Given the description of an element on the screen output the (x, y) to click on. 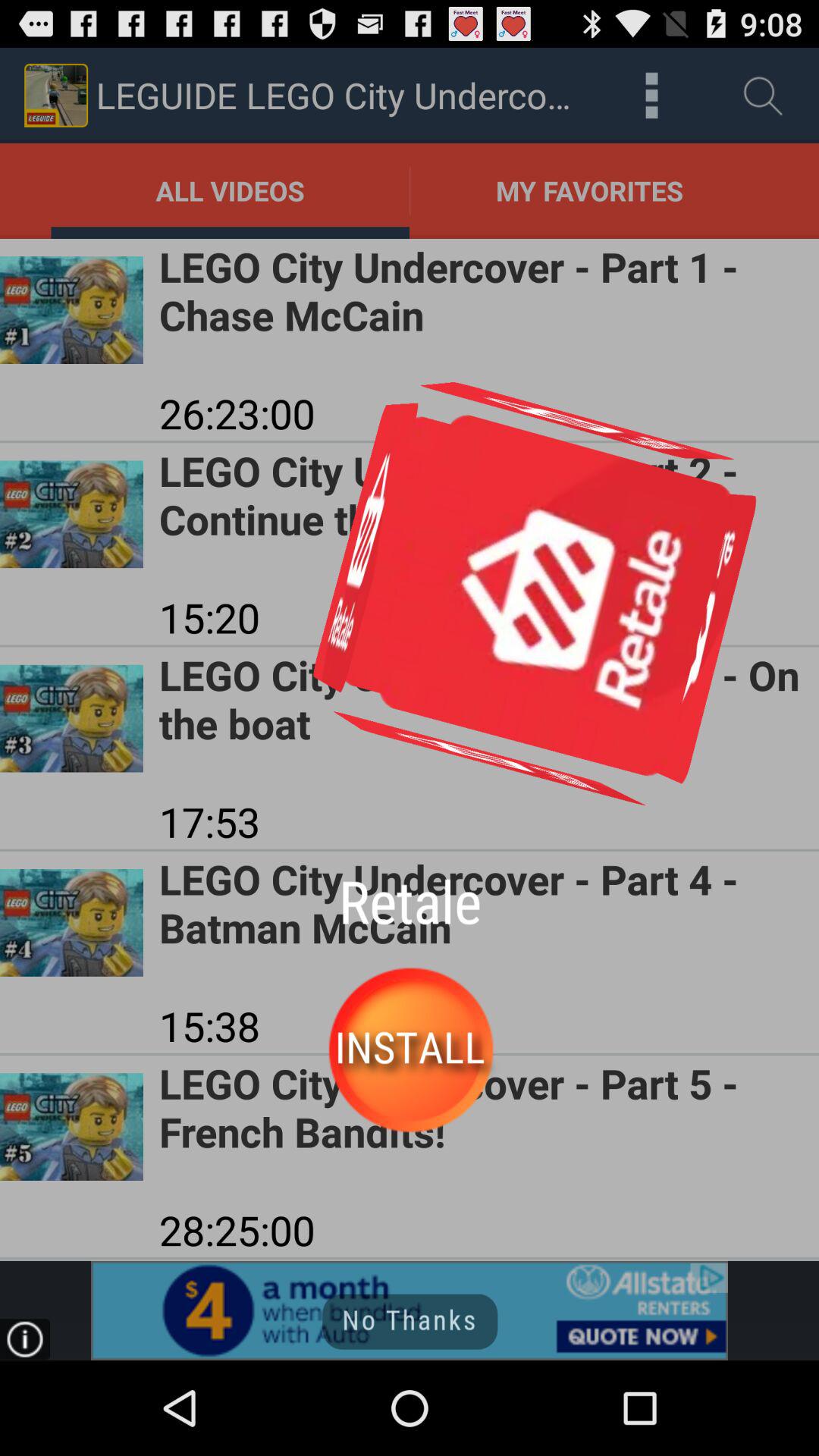
all videos downloaded (651, 95)
